Given the description of an element on the screen output the (x, y) to click on. 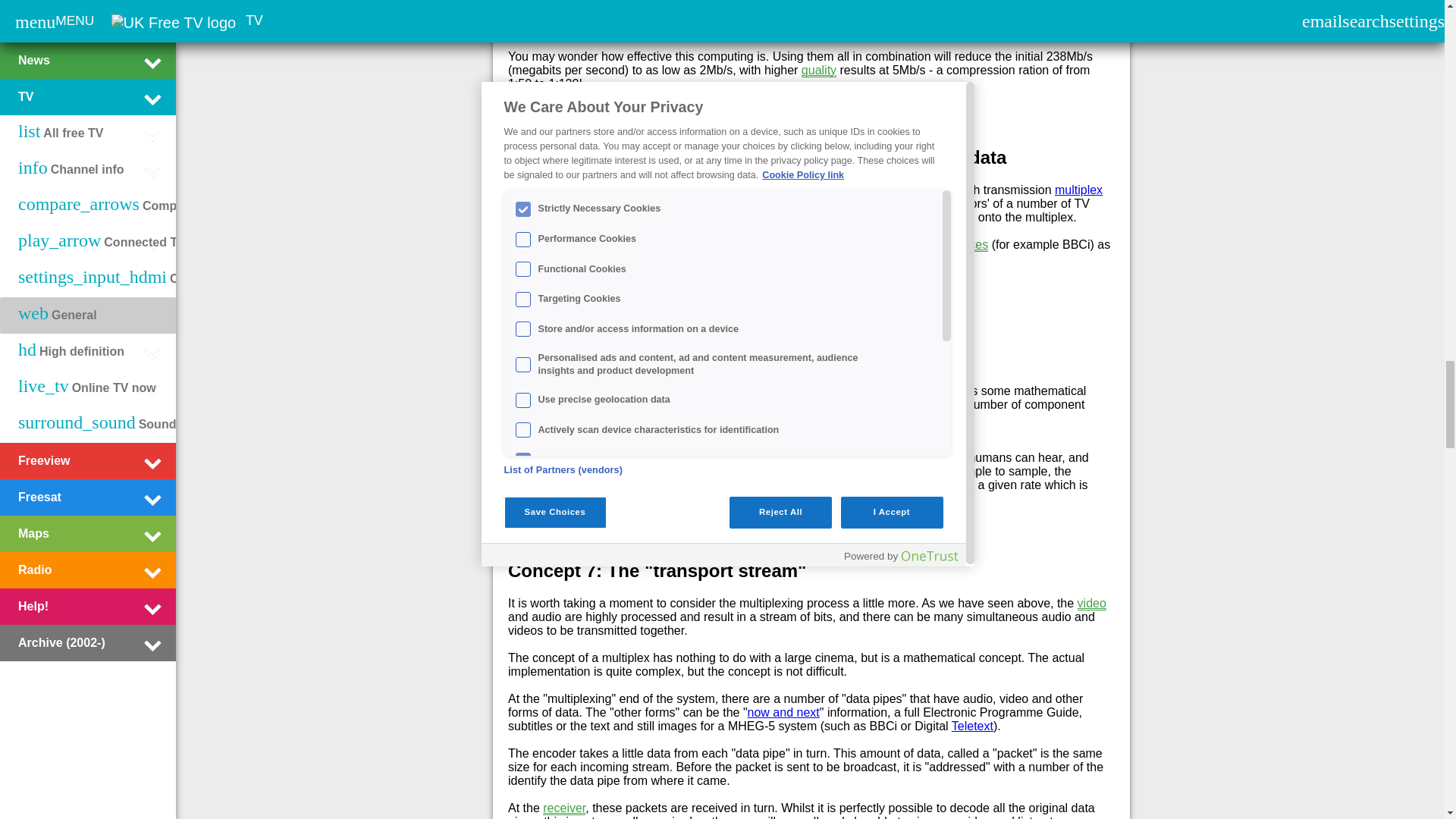
meaning signal quality (818, 69)
